Given the description of an element on the screen output the (x, y) to click on. 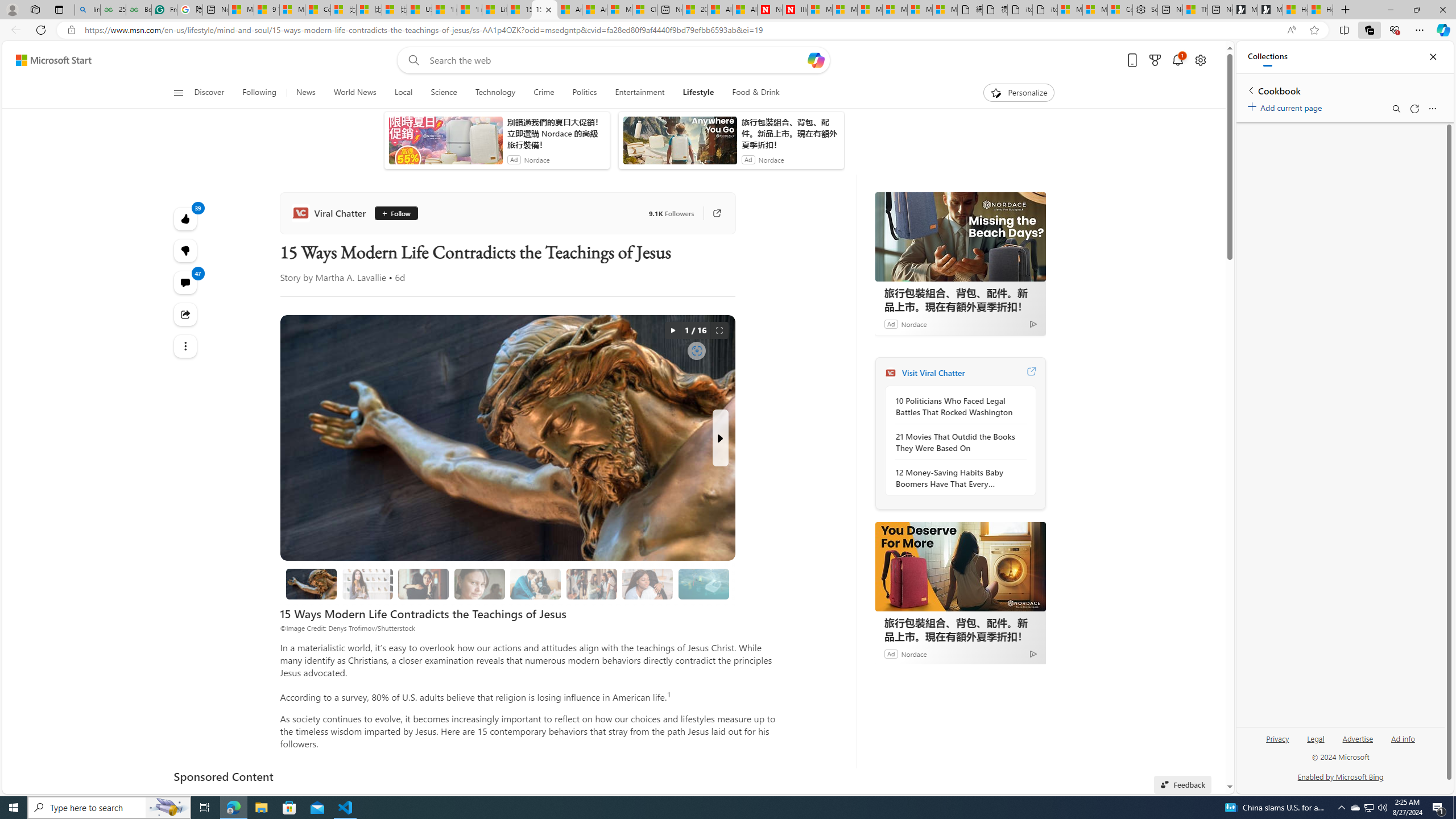
Close tab (548, 9)
Entertainment (639, 92)
Lifestyle (697, 92)
Three Ways To Stop Sweating So Much (1194, 9)
autorotate button (672, 330)
Personalize (1019, 92)
15 Ways Modern Life Contradicts the Teachings of Jesus (544, 9)
Science (443, 92)
Read aloud this page (Ctrl+Shift+U) (1291, 29)
15 Truths About Jesus Christ for Every Believer (311, 583)
Next Slide (719, 437)
Class: progress (703, 581)
